Given the description of an element on the screen output the (x, y) to click on. 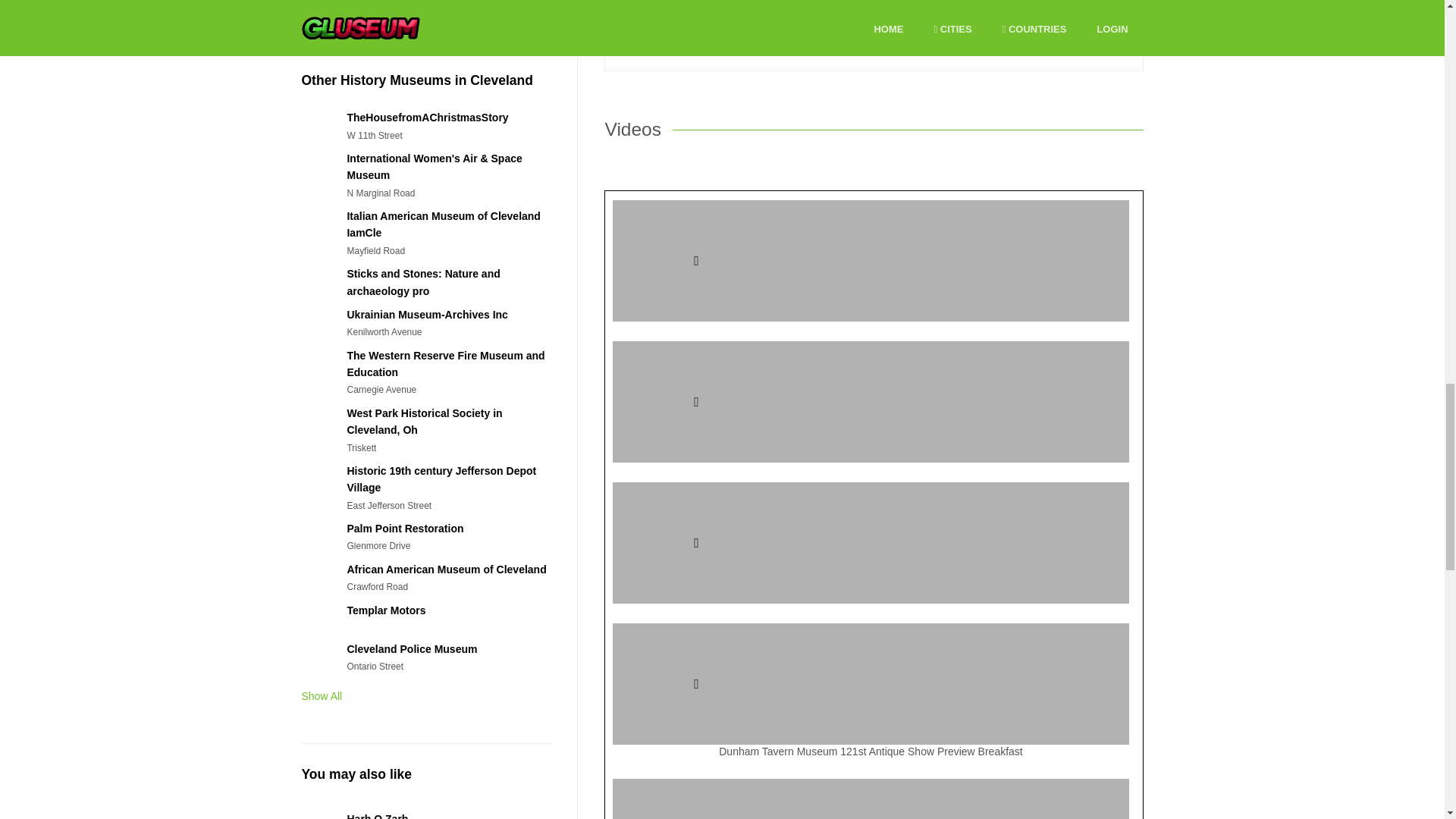
 ...  (315, 5)
TheHousefromAChristmasStory (427, 117)
Submit (645, 19)
Submit (645, 19)
